Given the description of an element on the screen output the (x, y) to click on. 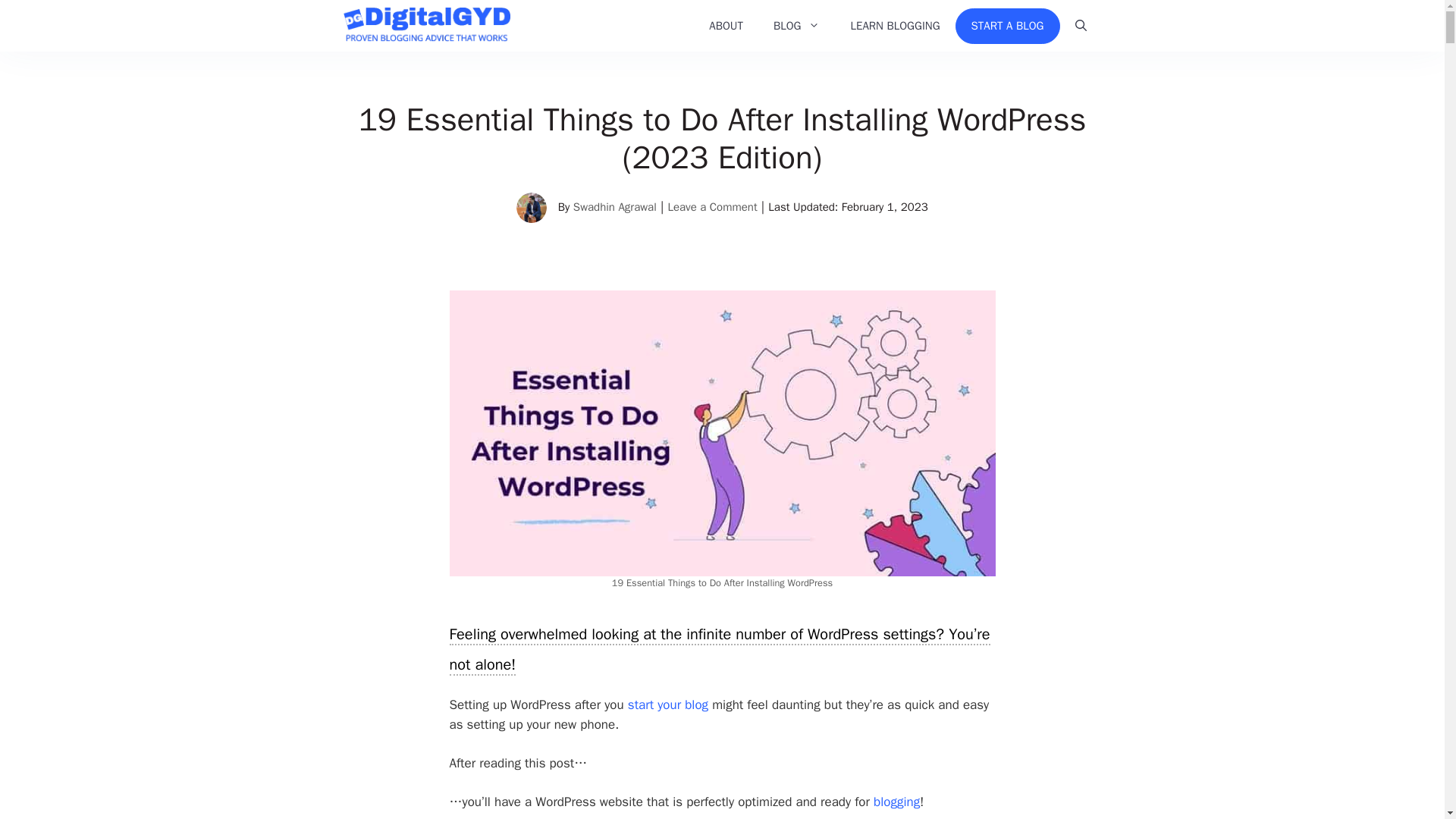
start your blog (667, 704)
View all posts by Swadhin Agrawal (614, 206)
Swadhin Agrawal (614, 206)
BLOG (796, 25)
ABOUT (726, 25)
LEARN BLOGGING (894, 25)
Leave a Comment (711, 206)
DigitalGYD (425, 25)
blogging (896, 801)
START A BLOG (1007, 26)
